Given the description of an element on the screen output the (x, y) to click on. 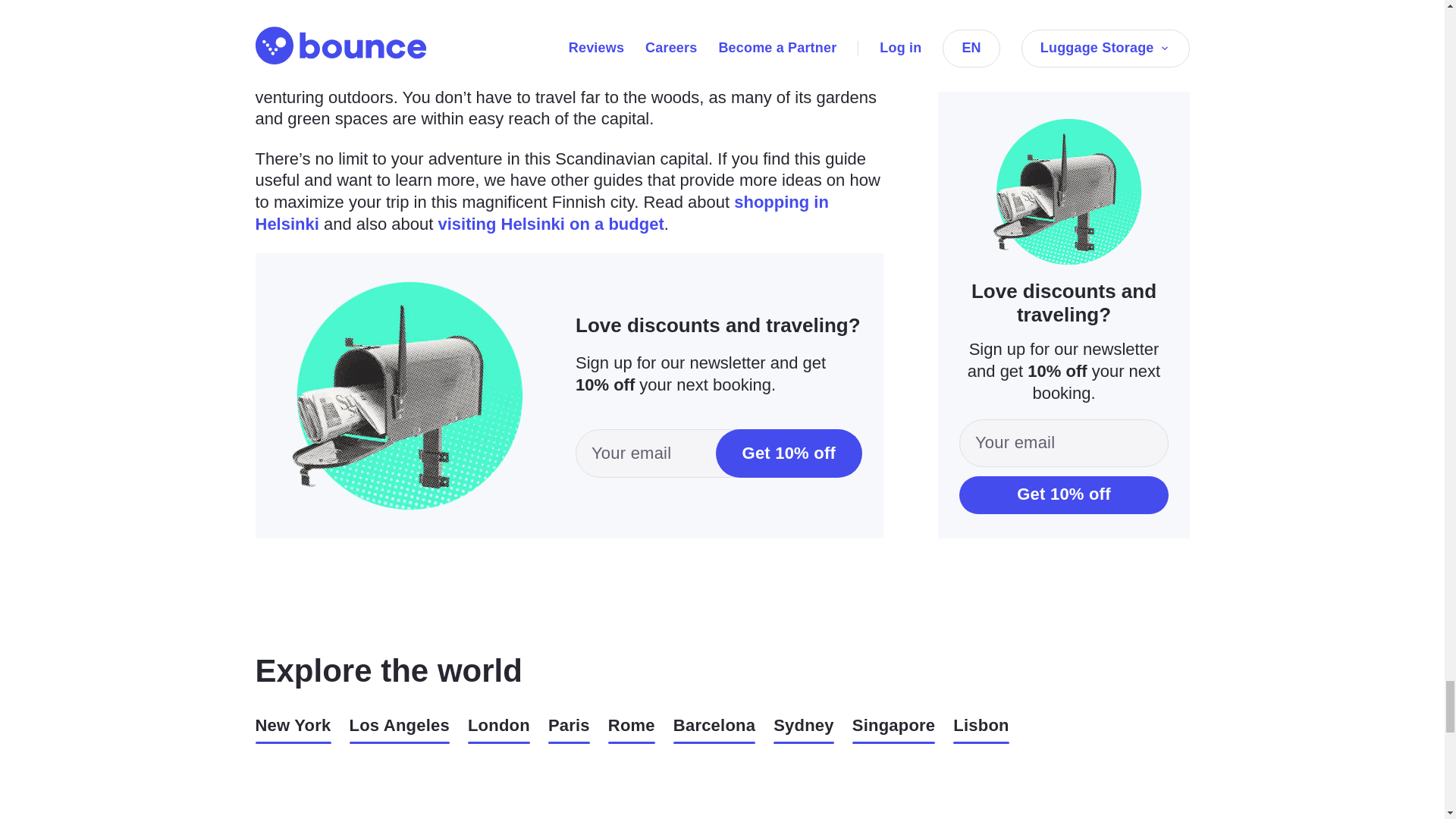
New York (292, 729)
Rome (631, 729)
Singapore (893, 729)
Sydney (803, 729)
Paris (568, 729)
visiting Helsinki on a budget (550, 223)
shopping in Helsinki (541, 212)
Lisbon (981, 729)
Los Angeles (398, 729)
London (498, 729)
Barcelona (713, 729)
